Given the description of an element on the screen output the (x, y) to click on. 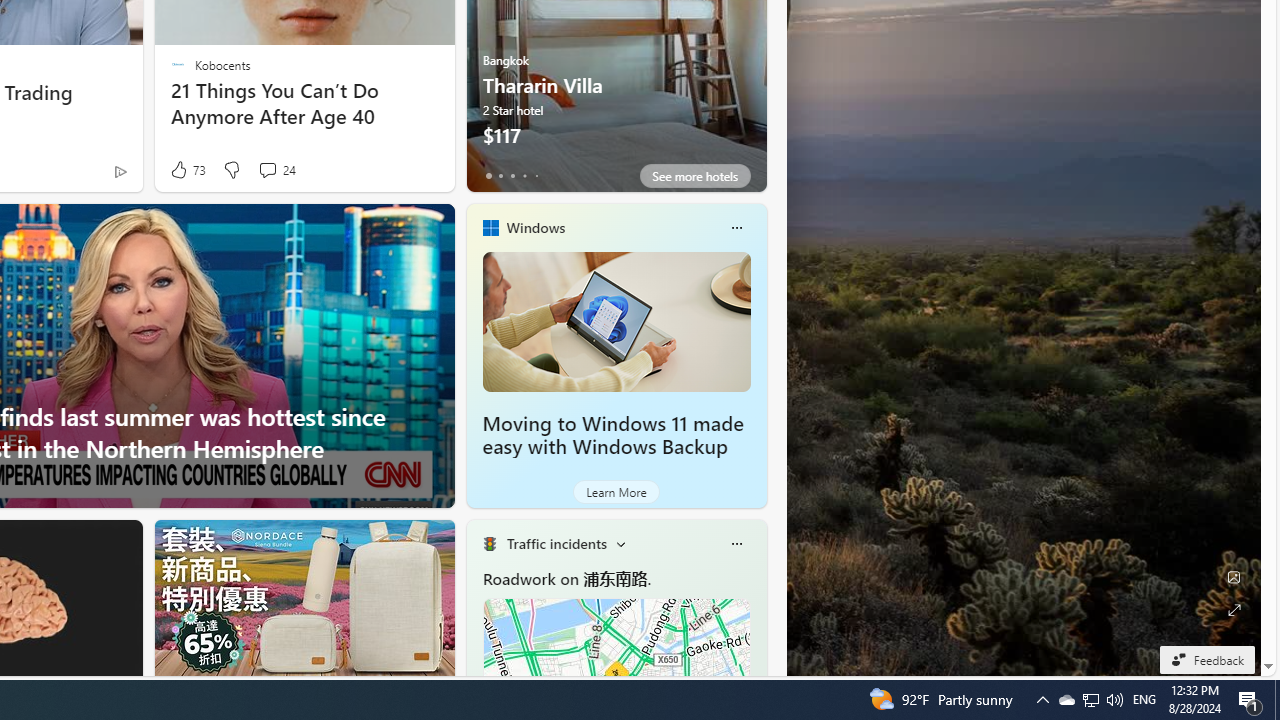
Change scenarios (620, 543)
73 Like (186, 170)
Windows (535, 227)
Class: icon-img (736, 543)
Moving to Windows 11 made easy with Windows Backup (616, 321)
tab-2 (511, 175)
Expand background (1233, 610)
